Given the description of an element on the screen output the (x, y) to click on. 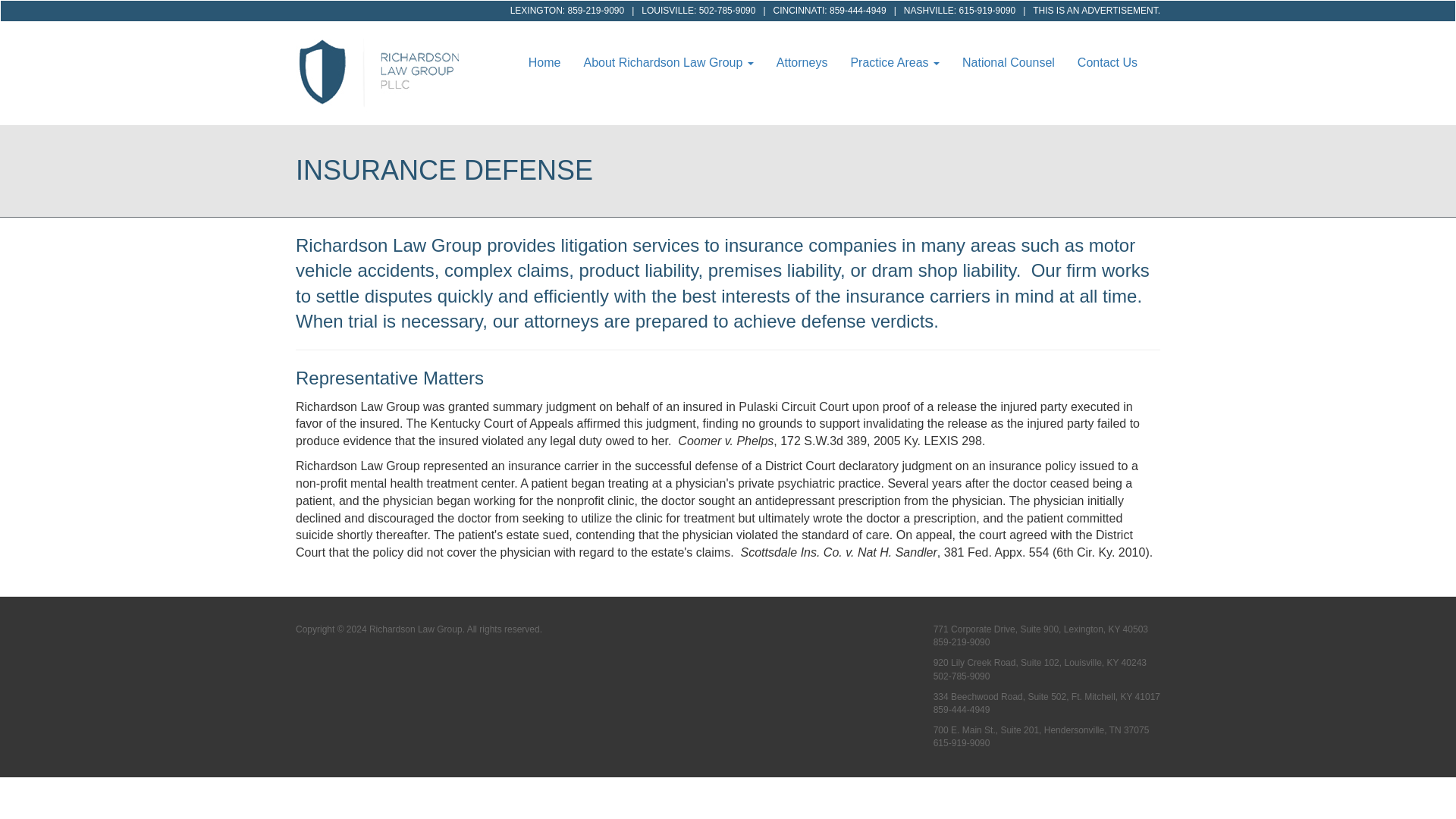
Practice Areas (894, 62)
About Richardson Law Group (668, 62)
Contact Us (1106, 62)
Attorneys (802, 62)
Home (384, 72)
Home (544, 62)
National Counsel (1007, 62)
